Given the description of an element on the screen output the (x, y) to click on. 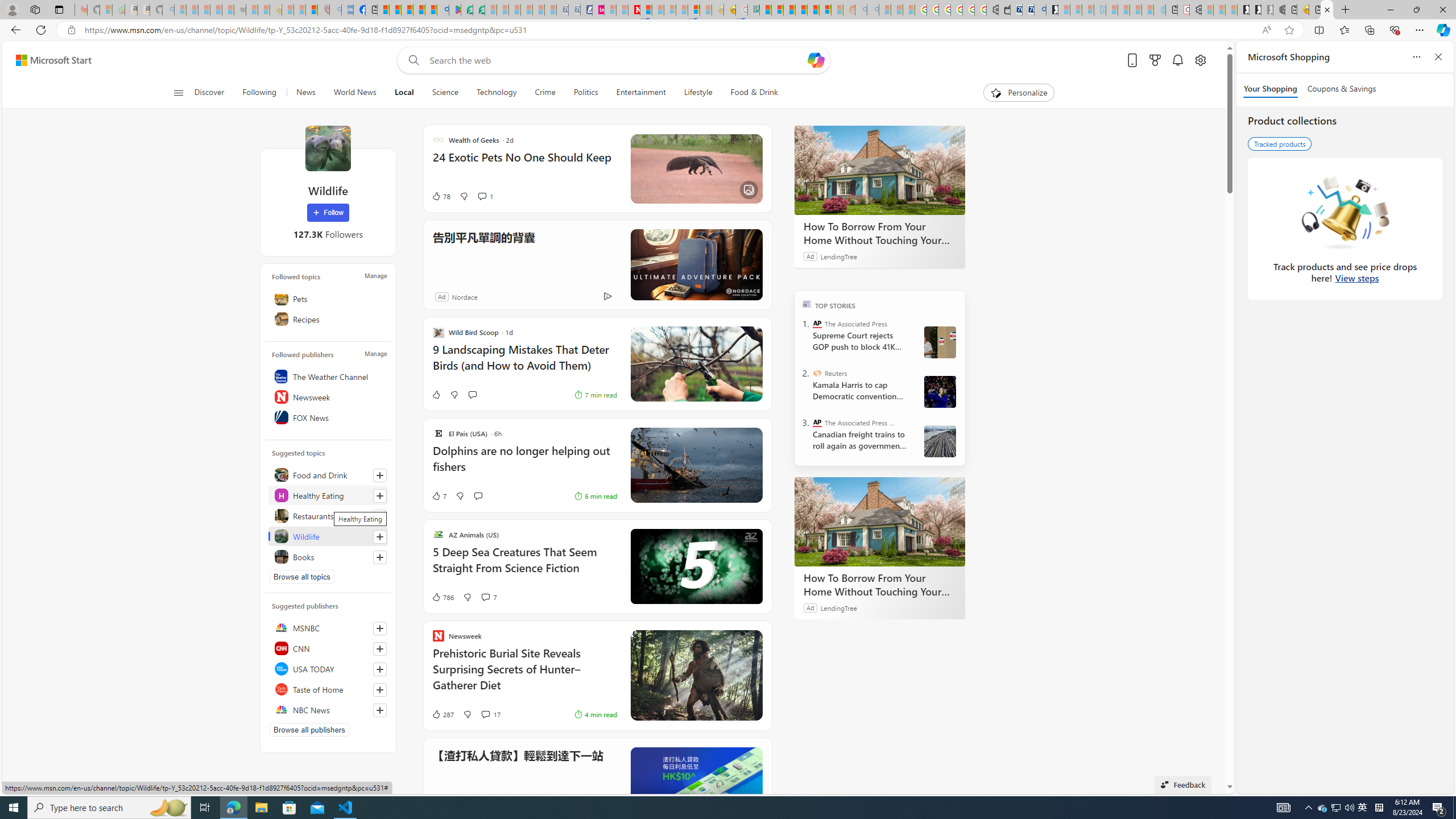
Combat Siege (239, 9)
Kinda Frugal - MSN (813, 9)
